Given the description of an element on the screen output the (x, y) to click on. 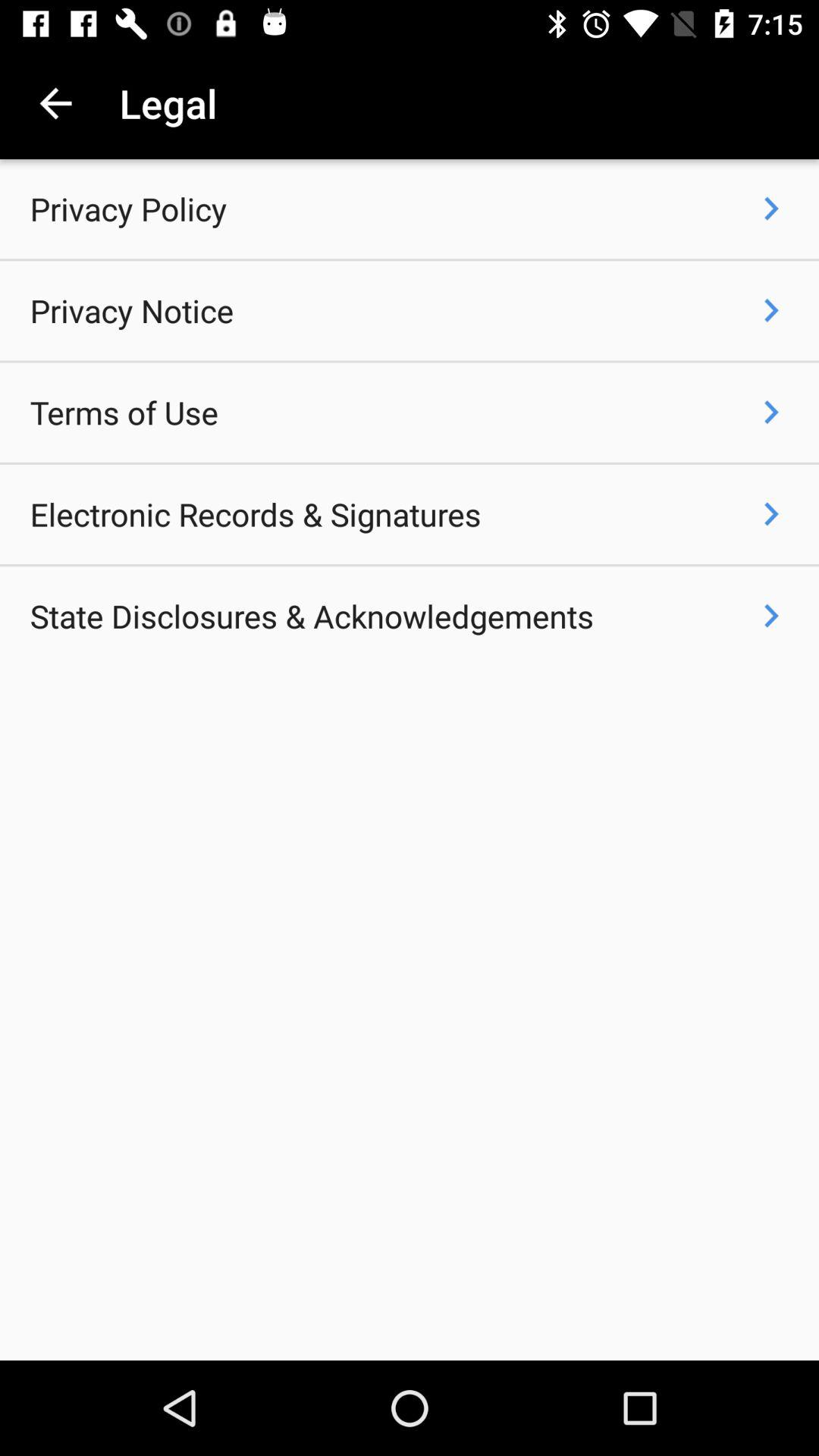
turn on the state disclosures & acknowledgements item (311, 616)
